Given the description of an element on the screen output the (x, y) to click on. 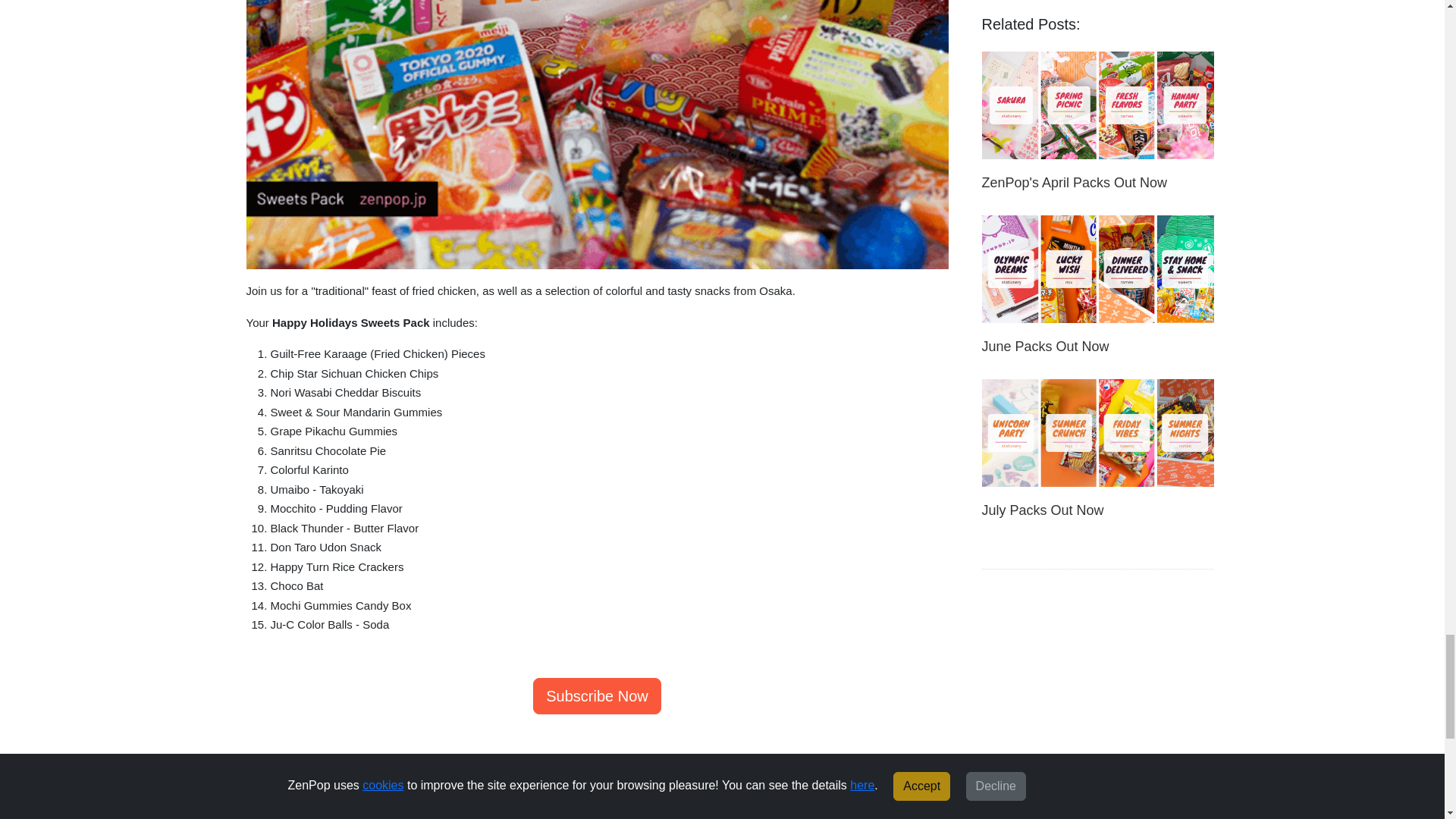
Facebook - ZenPop (545, 806)
ZenPop's Japanese Sweets Subscription Box (596, 696)
Twitter - ZenPop (652, 806)
Instagram - ZenPop (600, 806)
